Given the description of an element on the screen output the (x, y) to click on. 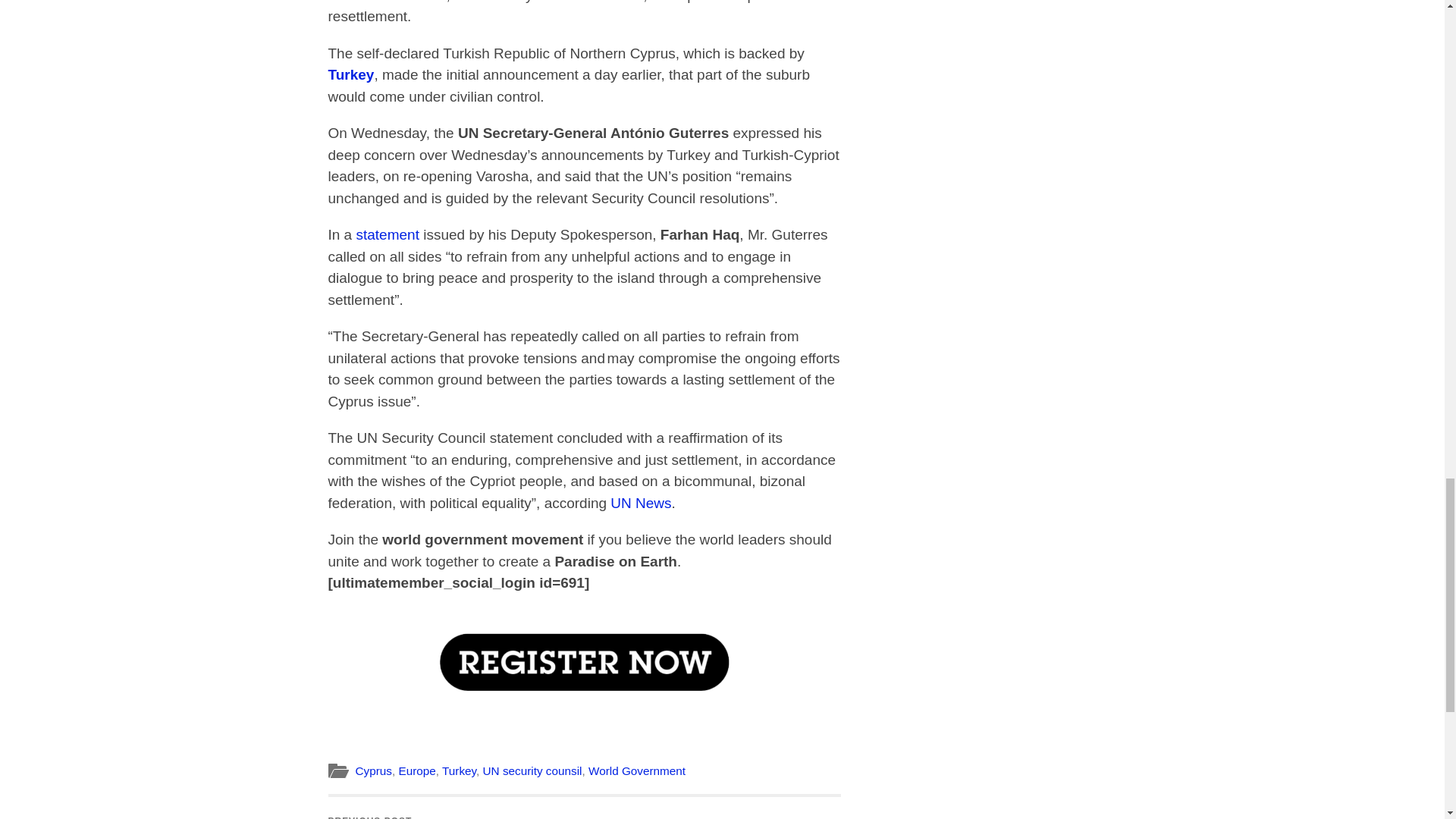
statement (387, 234)
UN News (640, 503)
Turkey (350, 74)
